Given the description of an element on the screen output the (x, y) to click on. 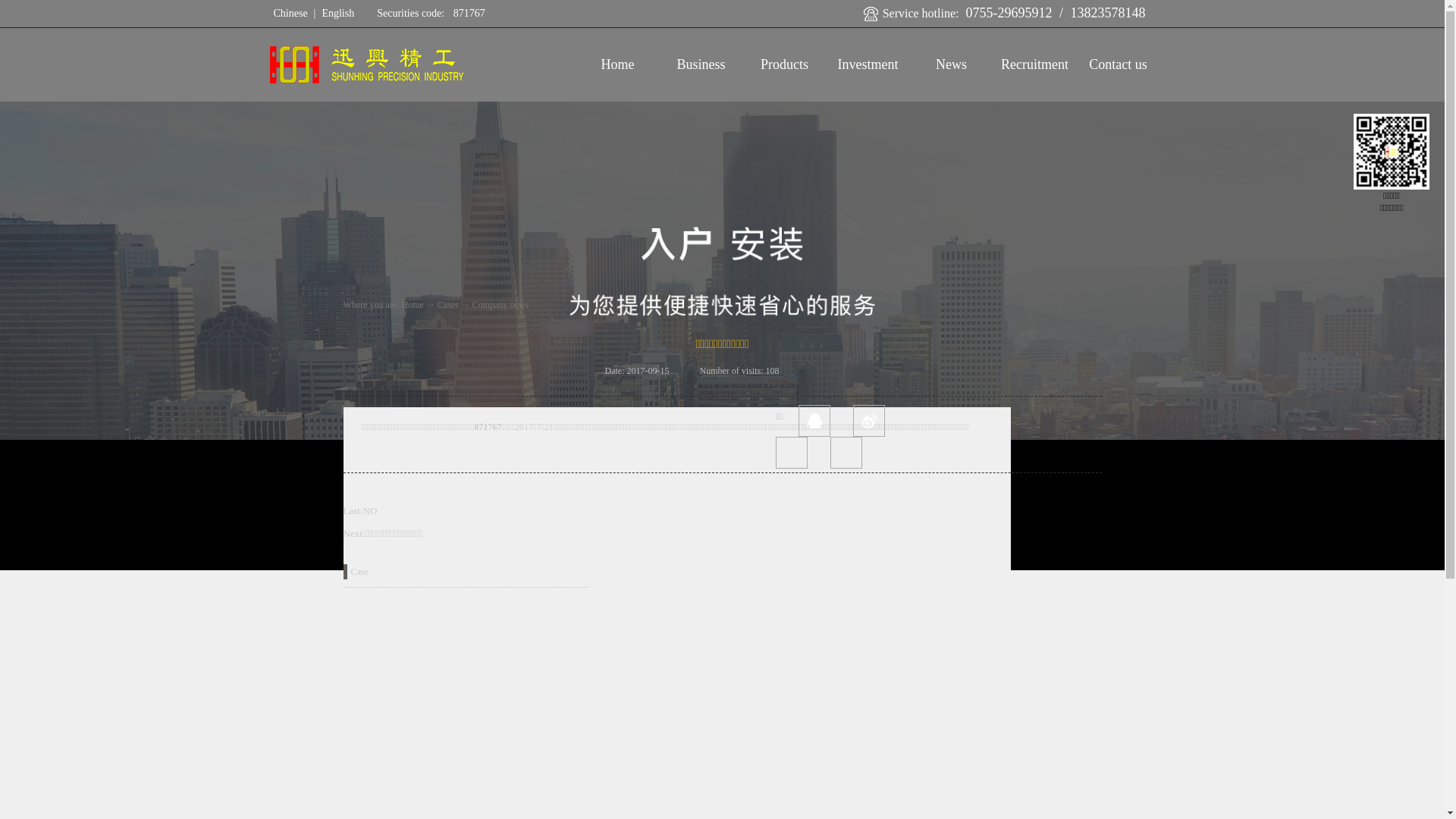
Cases Element type: text (447, 304)
Products Element type: text (784, 64)
Business Element type: text (700, 64)
News Element type: text (950, 64)
Home Element type: text (616, 64)
English Element type: text (337, 12)
Home Element type: text (413, 304)
Investment Element type: text (867, 64)
Company news Element type: text (500, 304)
Chinese Element type: text (290, 12)
Contact us Element type: text (1117, 64)
Recruitment Element type: text (1034, 64)
